Given the description of an element on the screen output the (x, y) to click on. 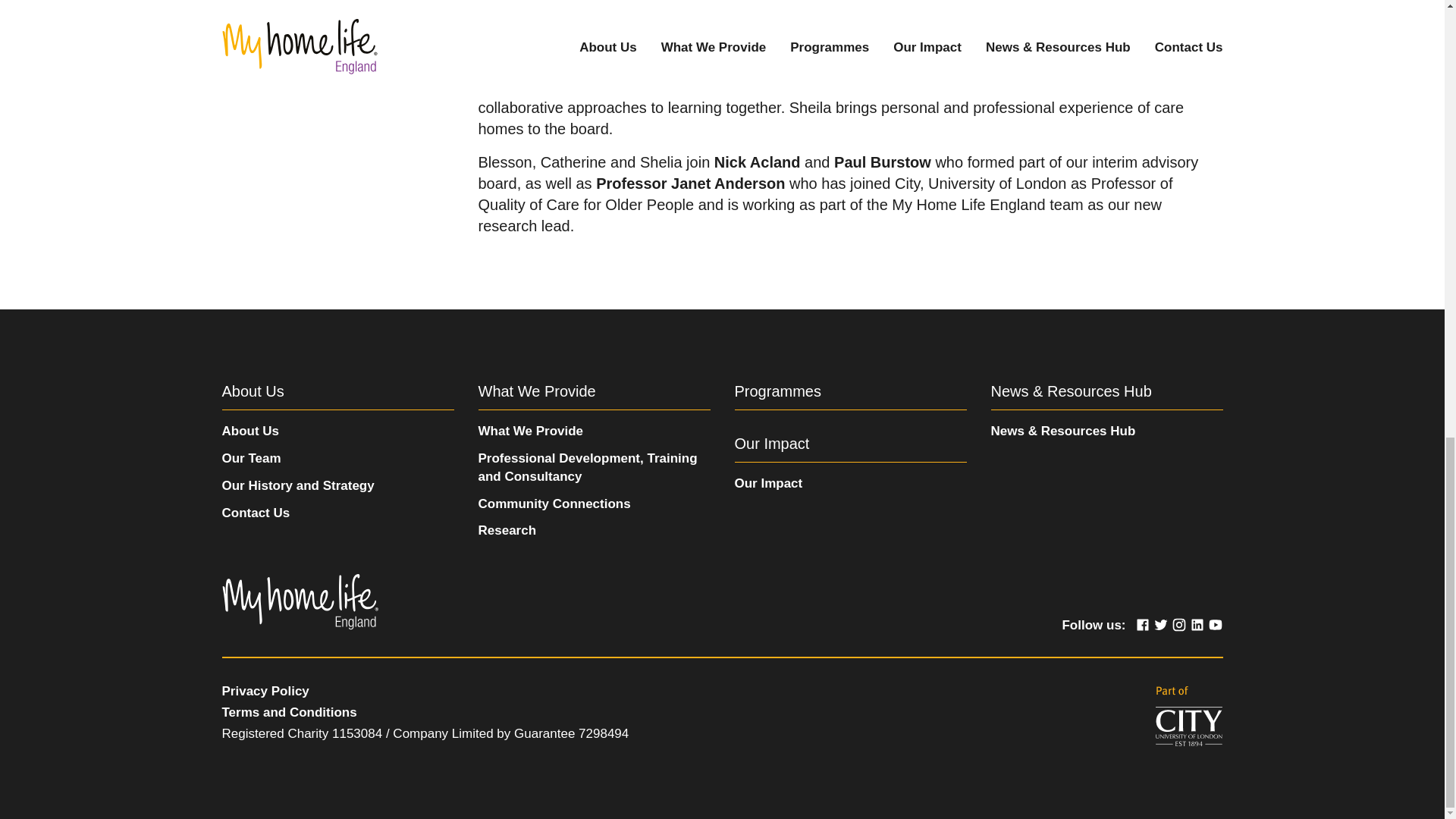
LinkedIn (1196, 624)
Professional Development, Training and Consultancy (587, 467)
Facebook (1142, 624)
About Us (250, 431)
Research (506, 530)
YouTube (1215, 624)
Instagram (1178, 624)
Our History and Strategy (297, 485)
Community Connections (553, 503)
Twitter (1160, 624)
Our Impact (767, 482)
What We Provide (530, 431)
My Home Life England (299, 602)
Our Team (251, 458)
Contact Us (255, 513)
